Given the description of an element on the screen output the (x, y) to click on. 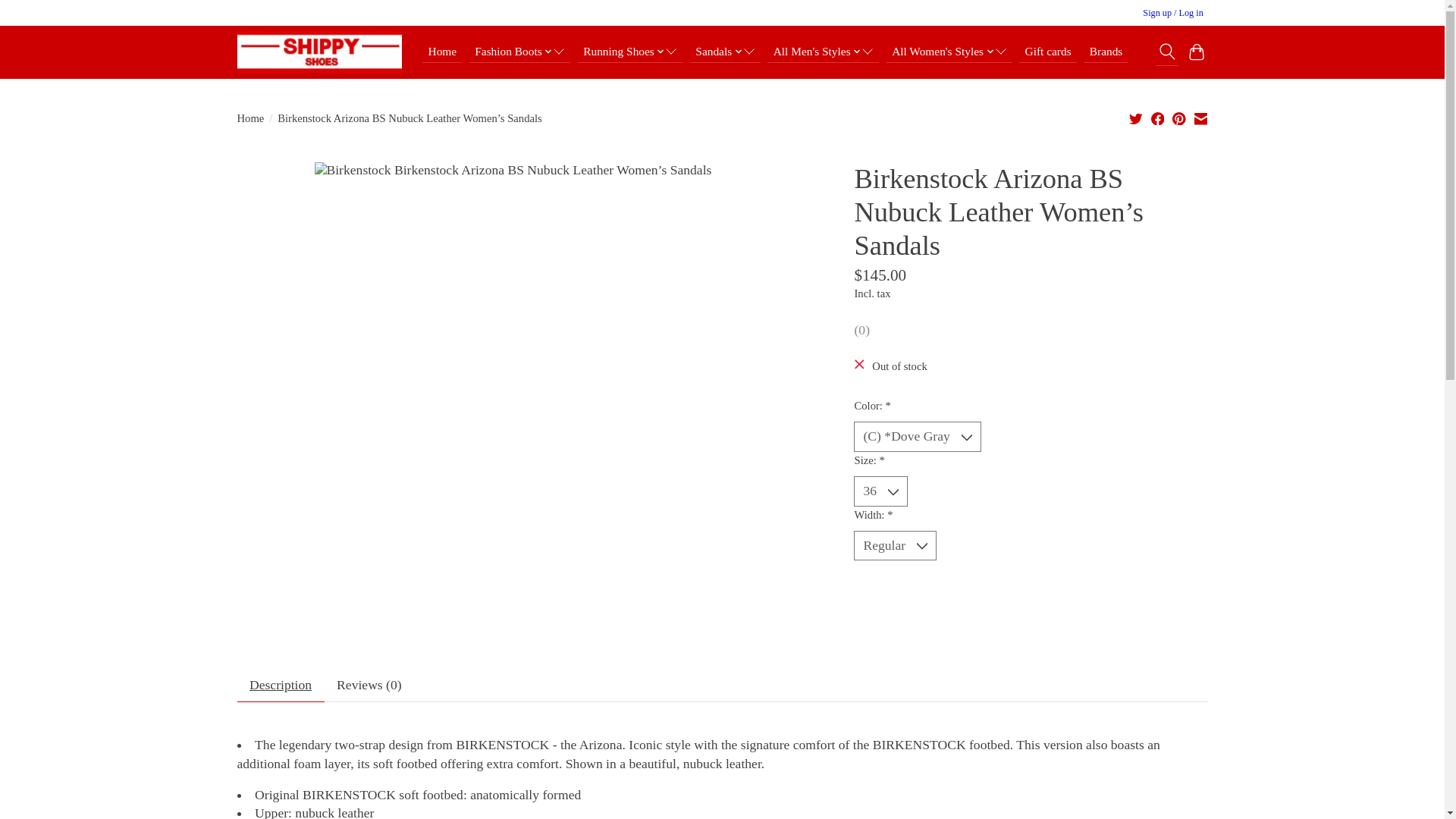
Sandals (725, 51)
Share on Pinterest (1178, 118)
Fashion Boots (519, 51)
Running Shoes (630, 51)
My account (1173, 13)
Share on Twitter (1135, 118)
Share on Facebook (1157, 118)
Home (441, 51)
Share by Email (1200, 118)
Shippy Shoes (318, 51)
